Given the description of an element on the screen output the (x, y) to click on. 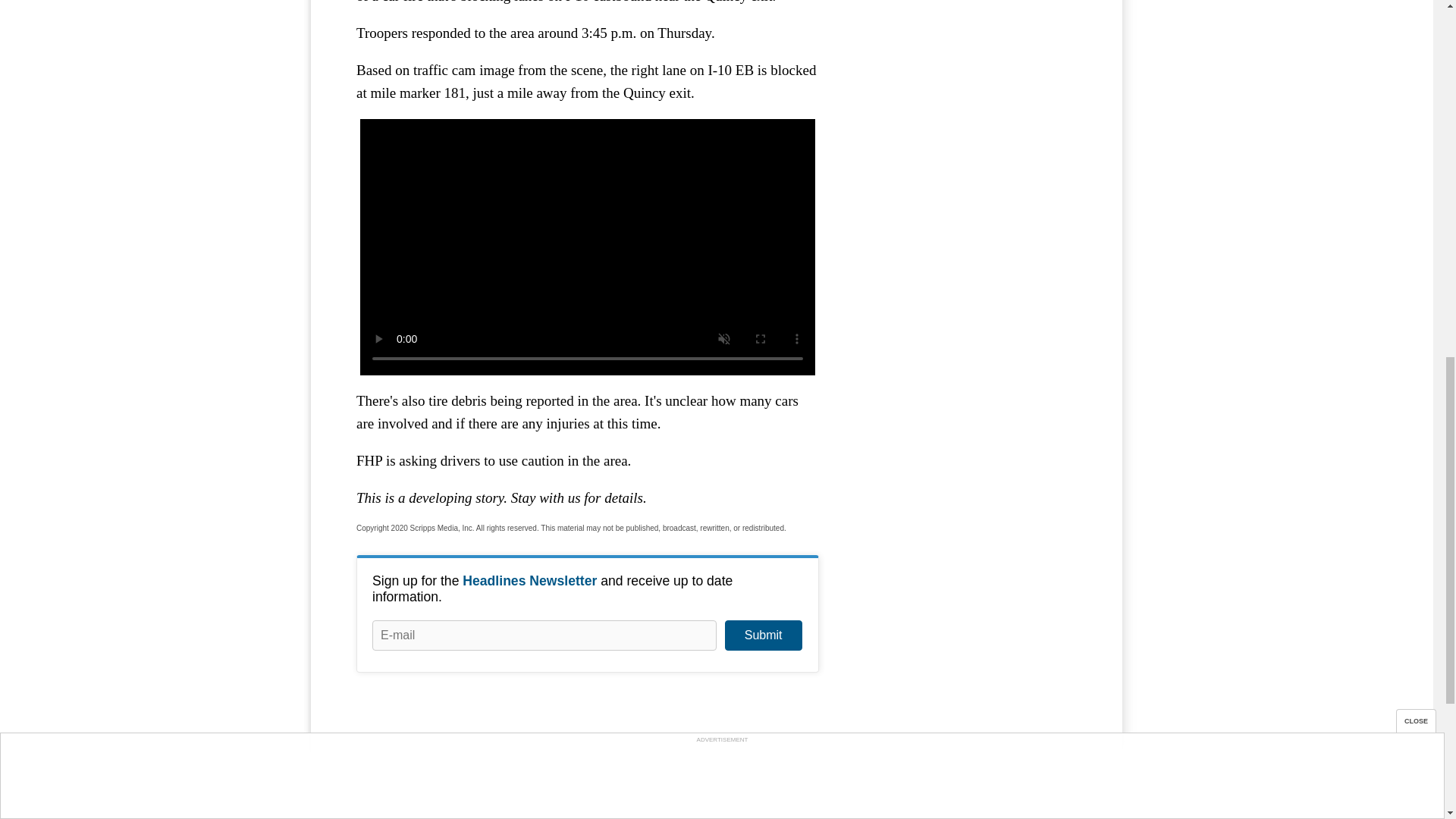
Submit (763, 634)
3rd party ad content (962, 47)
